Given the description of an element on the screen output the (x, y) to click on. 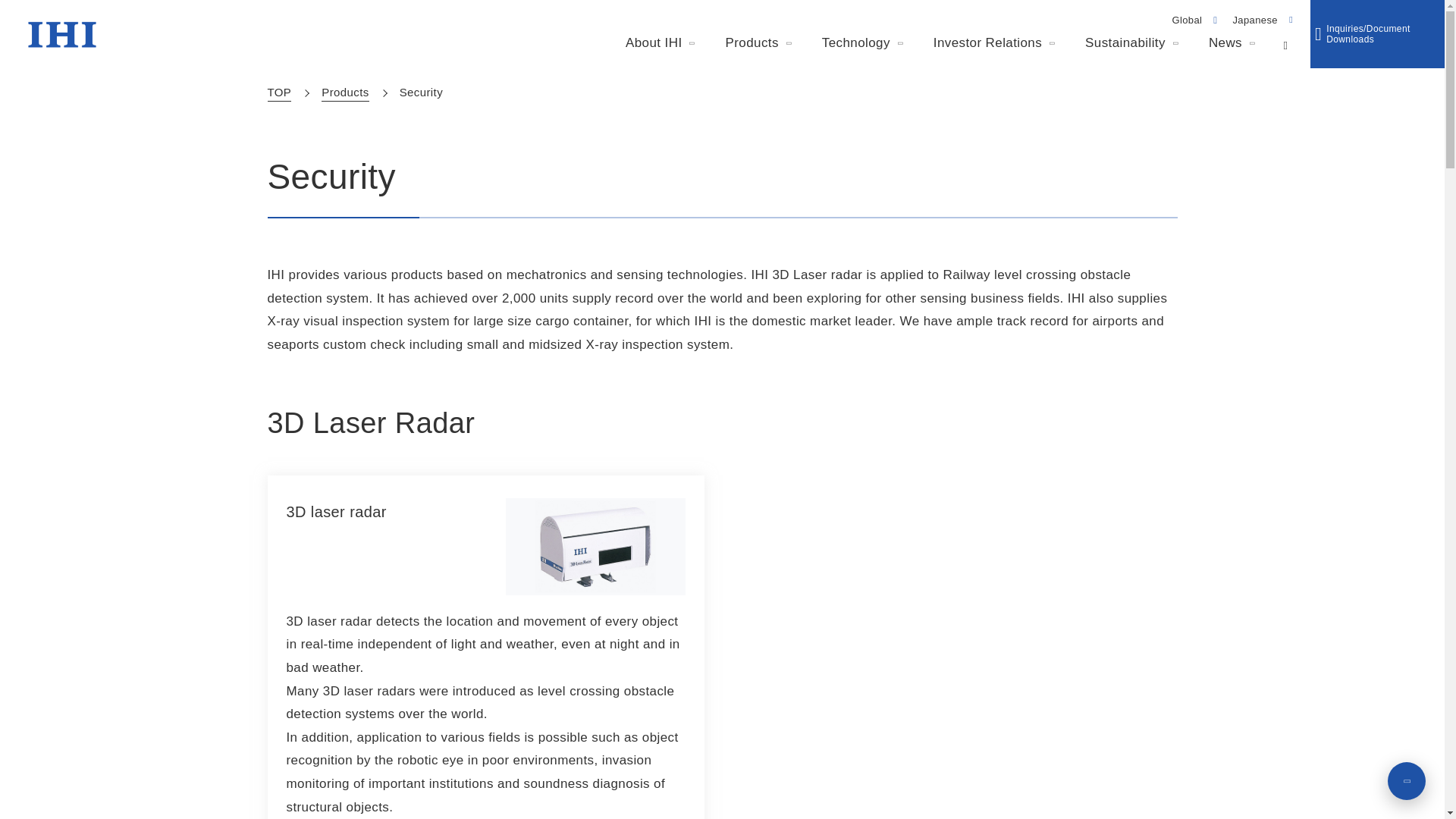
Technology (862, 44)
Investor Relations (993, 44)
Products (758, 44)
Sustainability (1130, 44)
About IHI (660, 44)
